Given the description of an element on the screen output the (x, y) to click on. 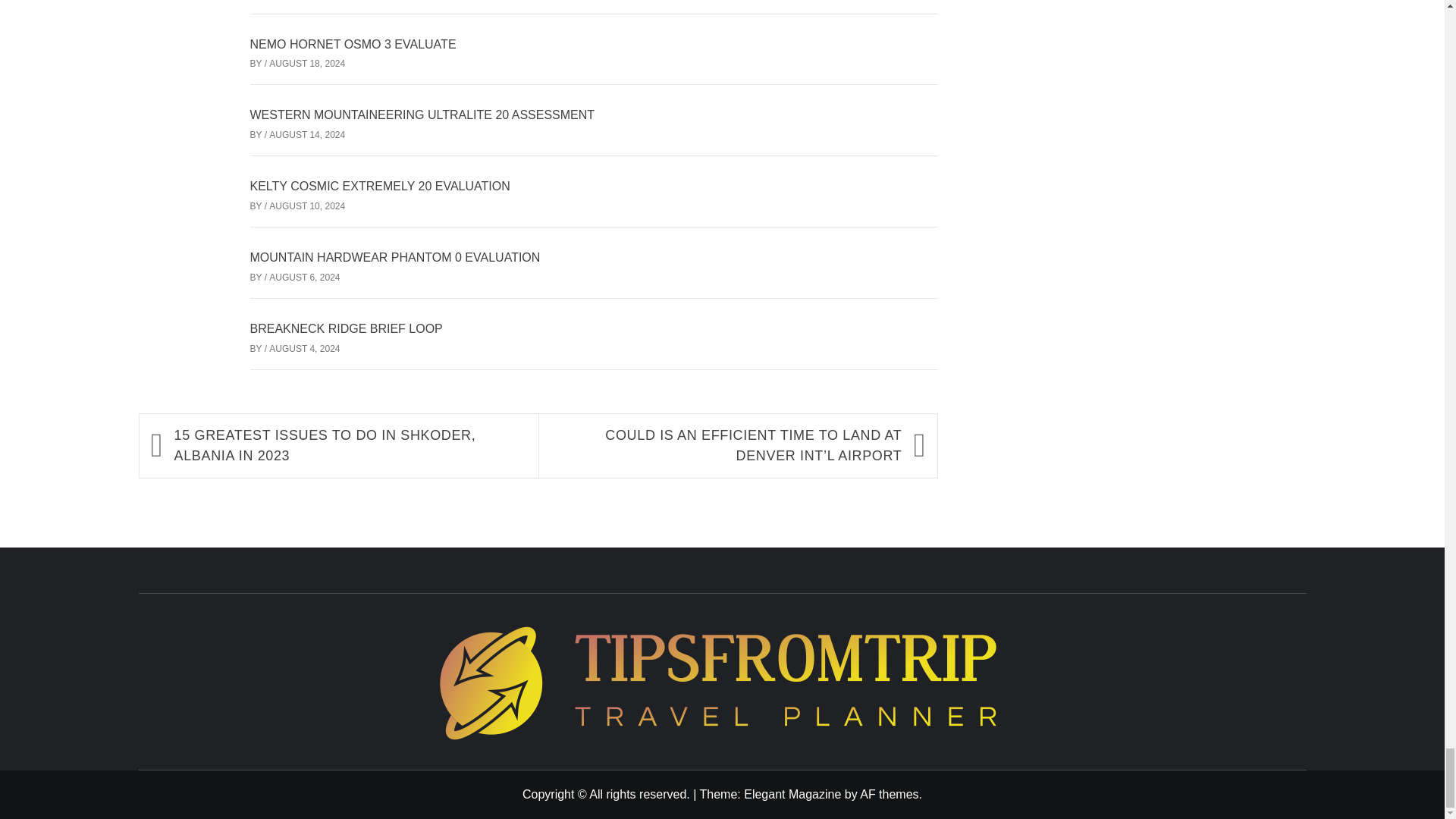
KELTY COSMIC EXTREMELY 20 EVALUATION (380, 185)
WESTERN MOUNTAINEERING ULTRALITE 20 ASSESSMENT (422, 114)
BREAKNECK RIDGE BRIEF LOOP (346, 328)
NEMO HORNET OSMO 3 EVALUATE (353, 43)
MOUNTAIN HARDWEAR PHANTOM 0 EVALUATION (395, 256)
